Given the description of an element on the screen output the (x, y) to click on. 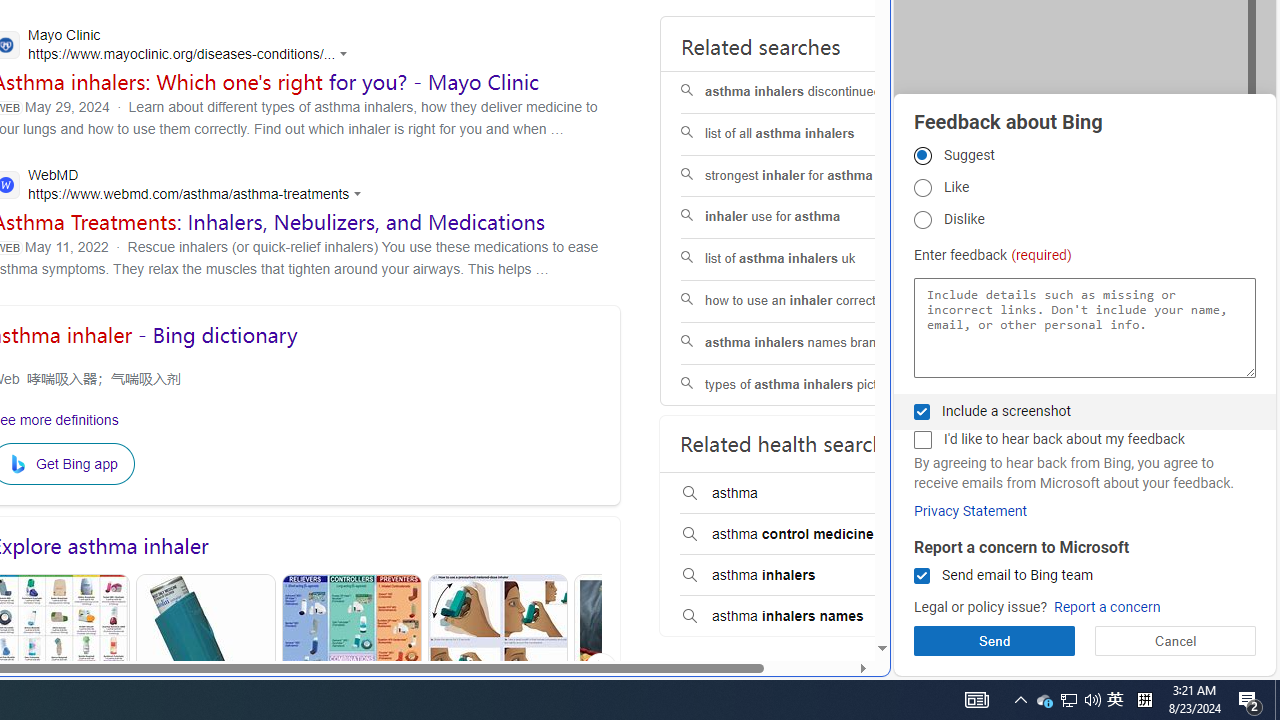
list of asthma inhalers uk (807, 259)
I'd like to hear back about my feedback (922, 440)
Cancel (1174, 640)
asthma inhalers discontinued (807, 92)
types of asthma inhalers pictures (807, 385)
Click to scroll right (600, 668)
Include a screenshot (921, 411)
asthma inhalers names (807, 616)
list of all asthma inhalers (807, 134)
